Given the description of an element on the screen output the (x, y) to click on. 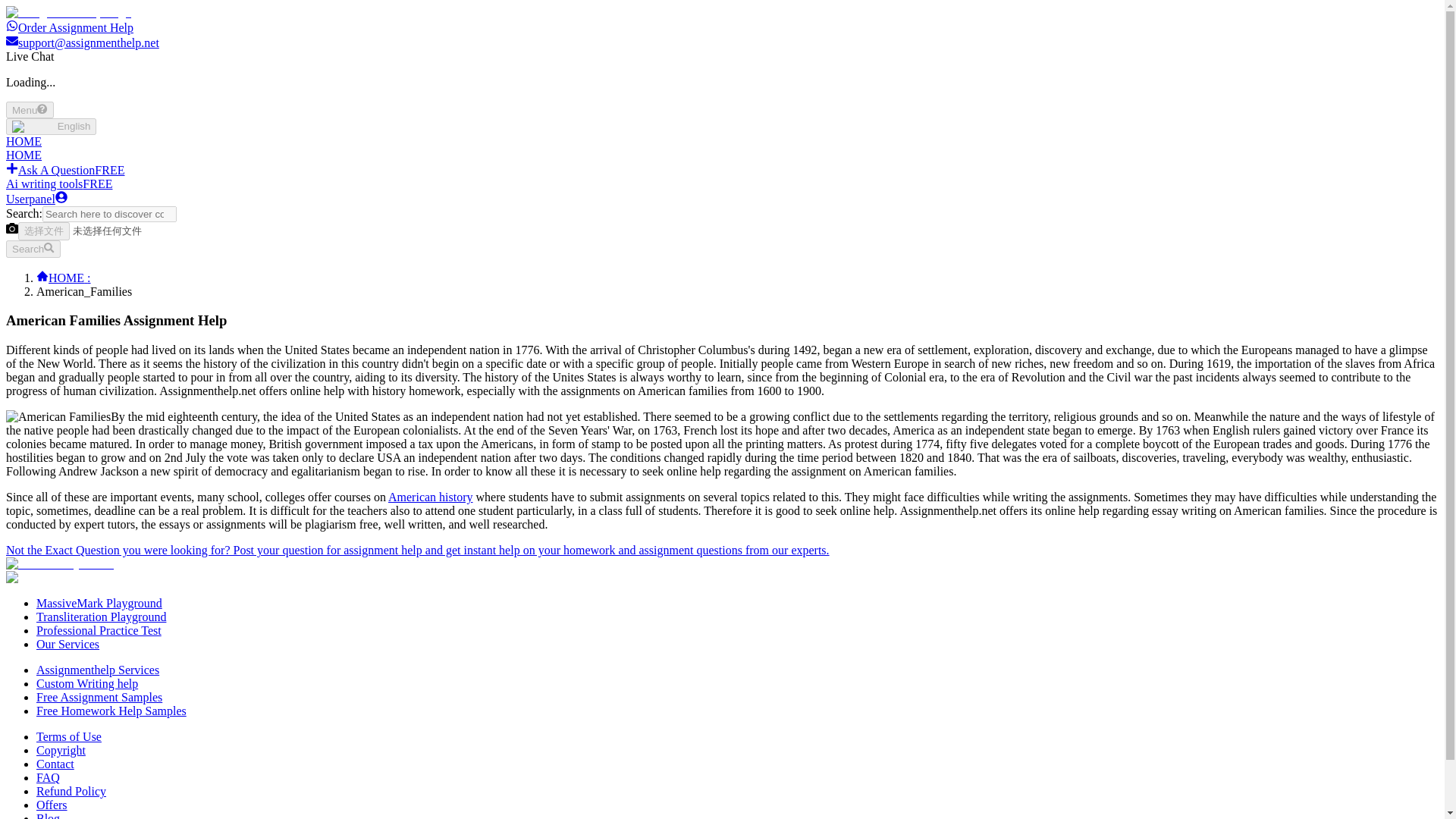
Transliteration Playground (100, 616)
Offers (51, 804)
HOME (23, 141)
Terms of Use (68, 736)
Ask A QuestionFREE (64, 169)
Menu (29, 109)
HOME (23, 154)
Copyright (60, 749)
American Families (57, 417)
MassiveMark Playground (98, 603)
Our Services (67, 644)
Contact (55, 763)
Userpanel (35, 198)
Blog (47, 815)
Search by Image (11, 227)
